Given the description of an element on the screen output the (x, y) to click on. 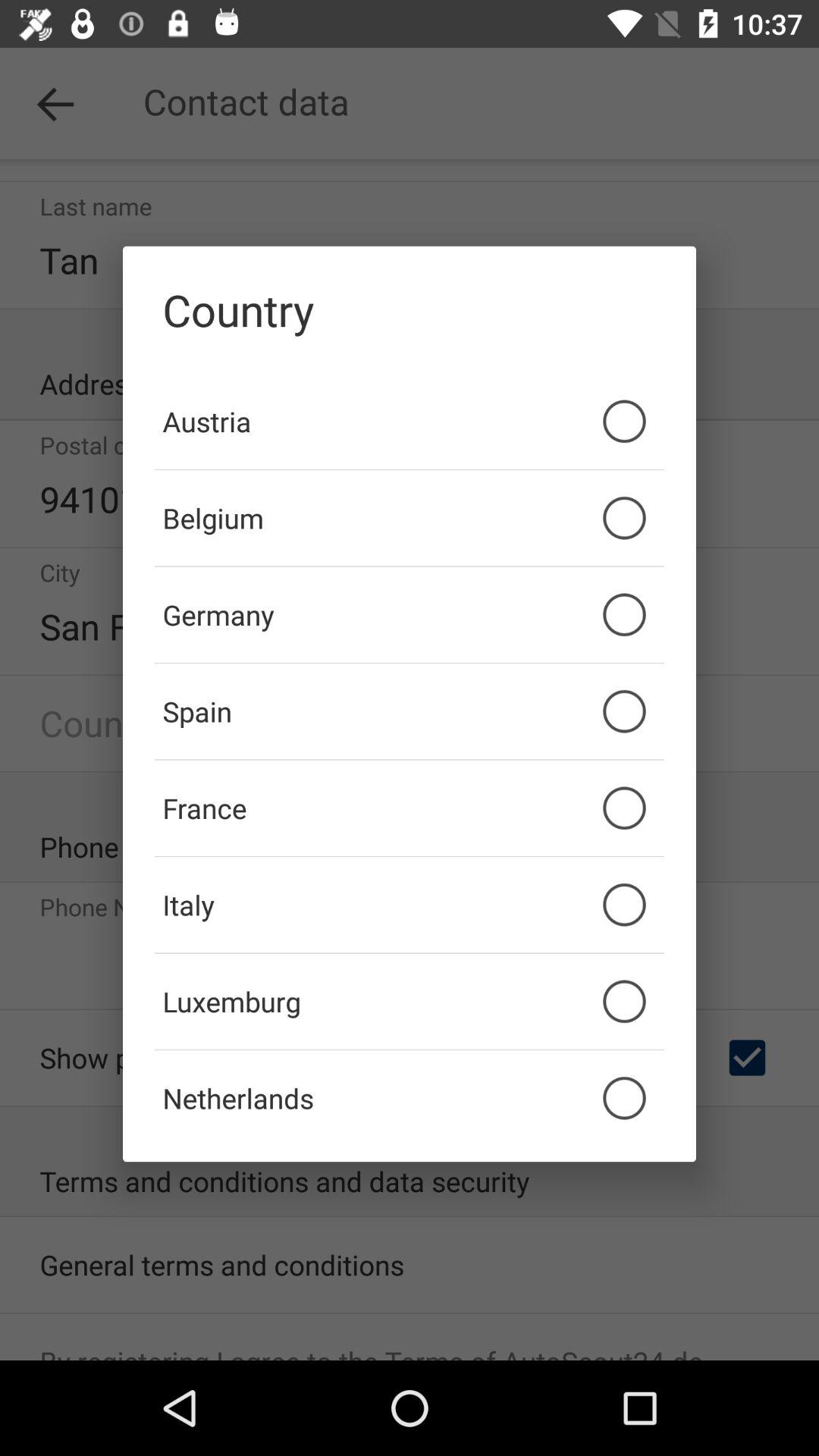
tap belgium icon (409, 517)
